Given the description of an element on the screen output the (x, y) to click on. 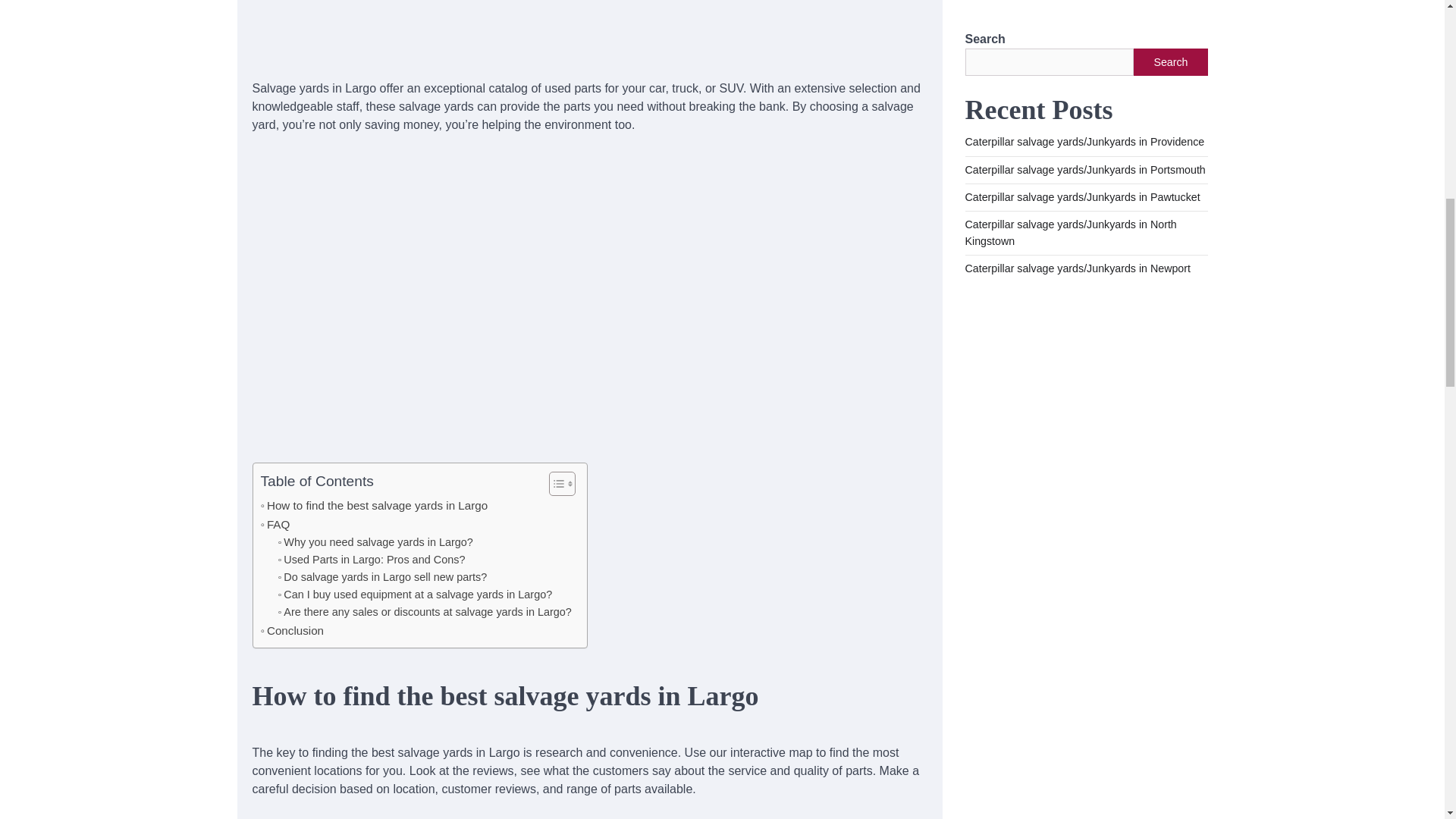
Why you need salvage yards in Largo? (375, 542)
Conclusion (292, 630)
FAQ (375, 542)
Are there any sales or discounts at salvage yards in Largo? (274, 524)
FAQ (425, 611)
How to find the best salvage yards in Largo (425, 611)
Used Parts in Largo: Pros and Cons? (274, 524)
